Given the description of an element on the screen output the (x, y) to click on. 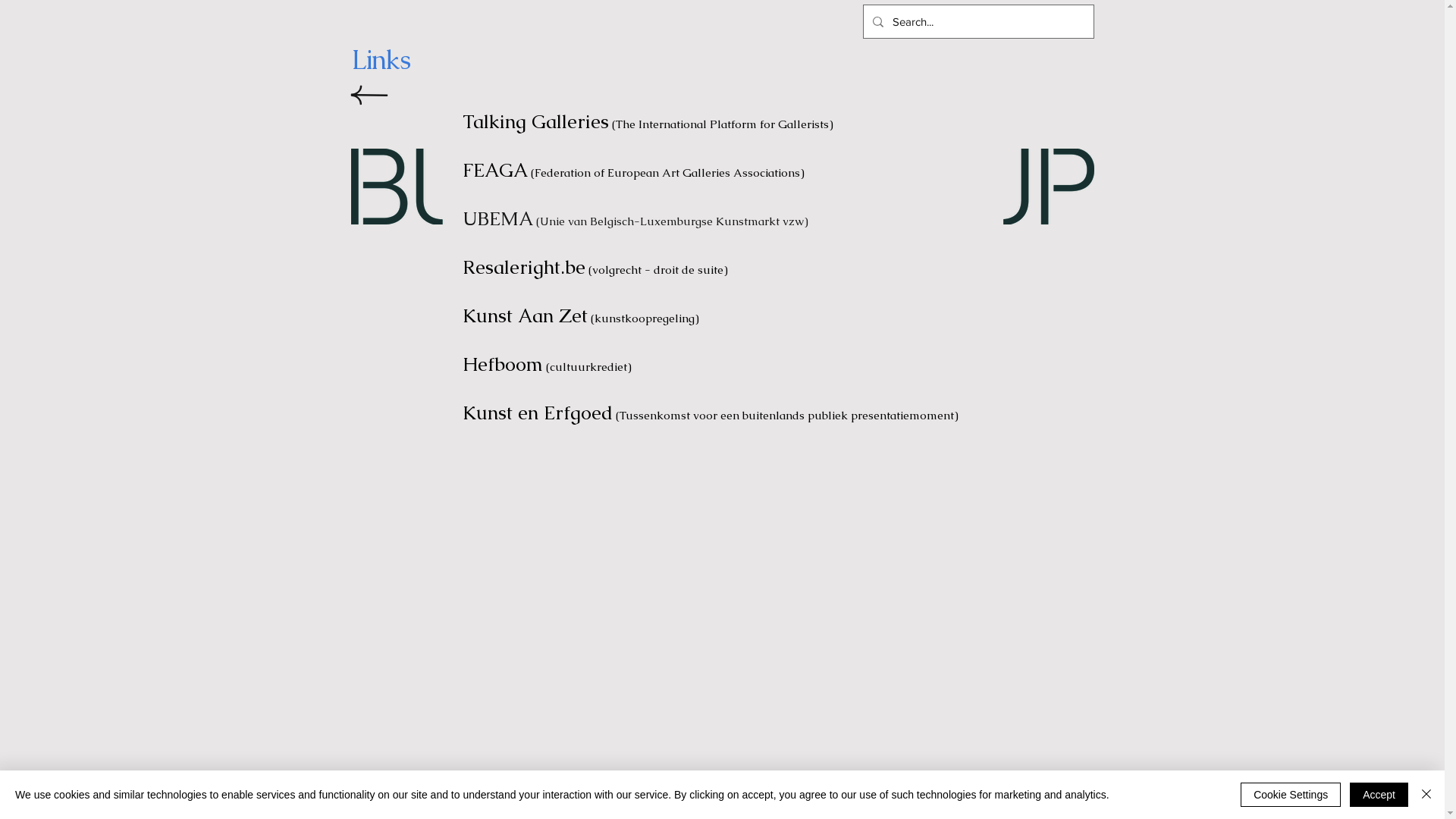
Talking Galleries Element type: text (535, 121)
Kunst en Erfgoed Element type: text (537, 412)
Resaleright.be Element type: text (523, 266)
Cookie Settings Element type: text (1290, 794)
UBEMA Element type: text (497, 218)
Hefboom Element type: text (502, 363)
FEAGA Element type: text (494, 169)
Accept Element type: text (1378, 794)
Kunst Aan Zet Element type: text (524, 315)
